Given the description of an element on the screen output the (x, y) to click on. 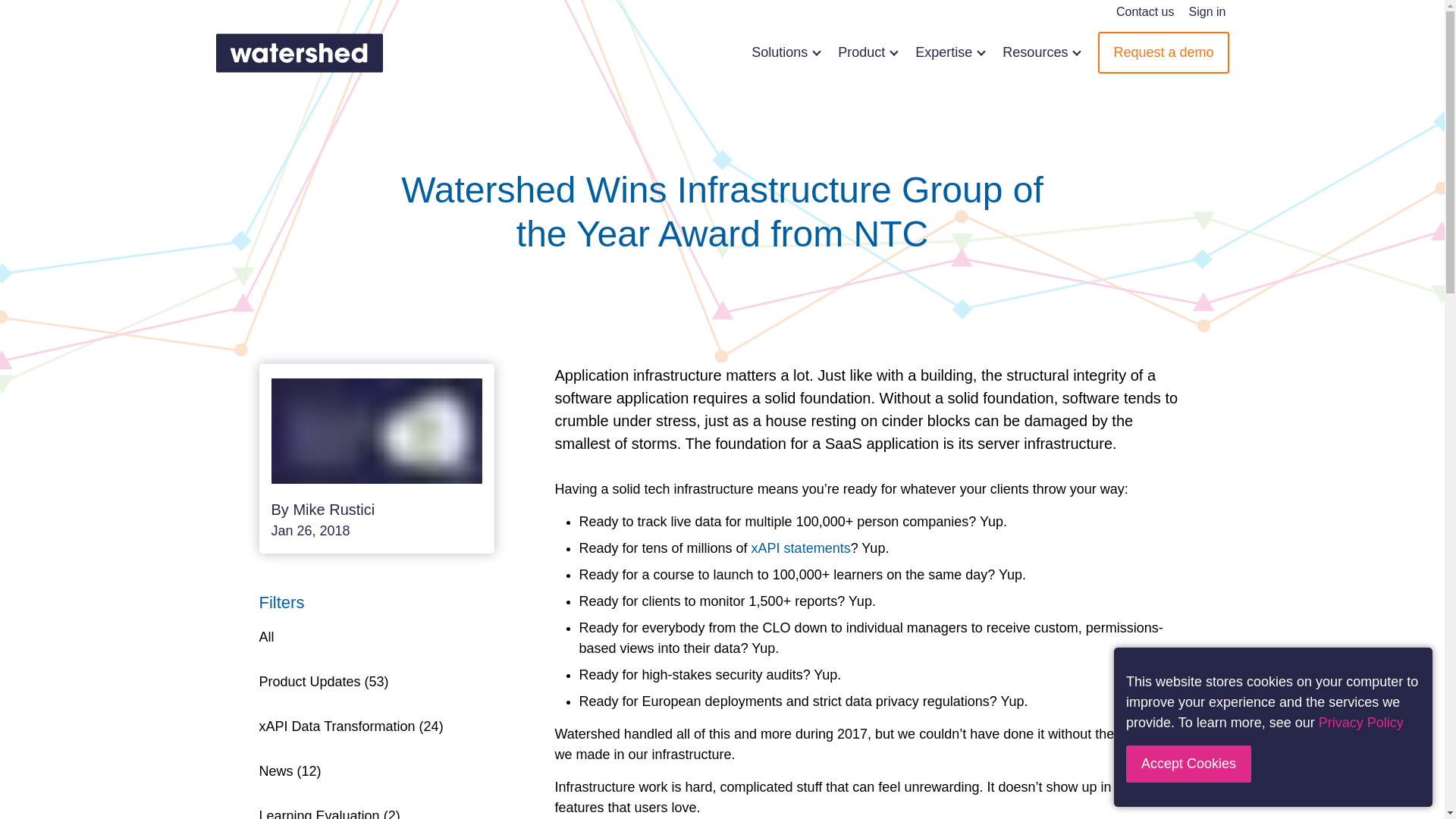
xAPI statements (800, 548)
Request a demo (1162, 52)
Sign in (1207, 12)
Watershed homepage (298, 52)
Contact us (1144, 12)
